Given the description of an element on the screen output the (x, y) to click on. 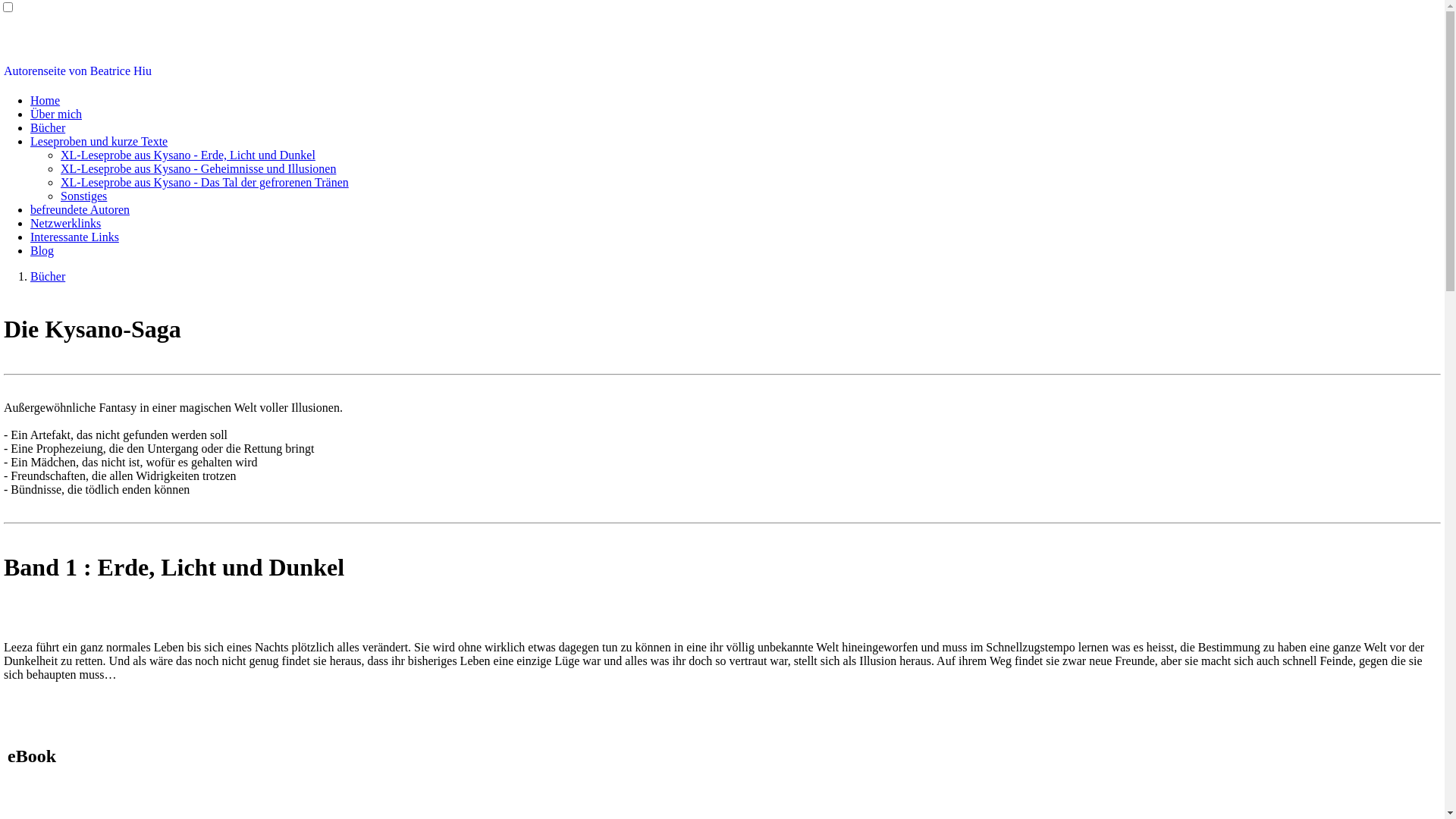
Interessante Links Element type: text (74, 236)
XL-Leseprobe aus Kysano - Geheimnisse und Illusionen Element type: text (197, 168)
Blog Element type: text (41, 250)
Home Element type: text (44, 100)
befreundete Autoren Element type: text (79, 209)
Netzwerklinks Element type: text (65, 222)
Sonstiges Element type: text (83, 195)
XL-Leseprobe aus Kysano - Erde, Licht und Dunkel Element type: text (187, 154)
Autorenseite von Beatrice Hiu Element type: text (77, 70)
Leseproben und kurze Texte Element type: text (98, 140)
